Given the description of an element on the screen output the (x, y) to click on. 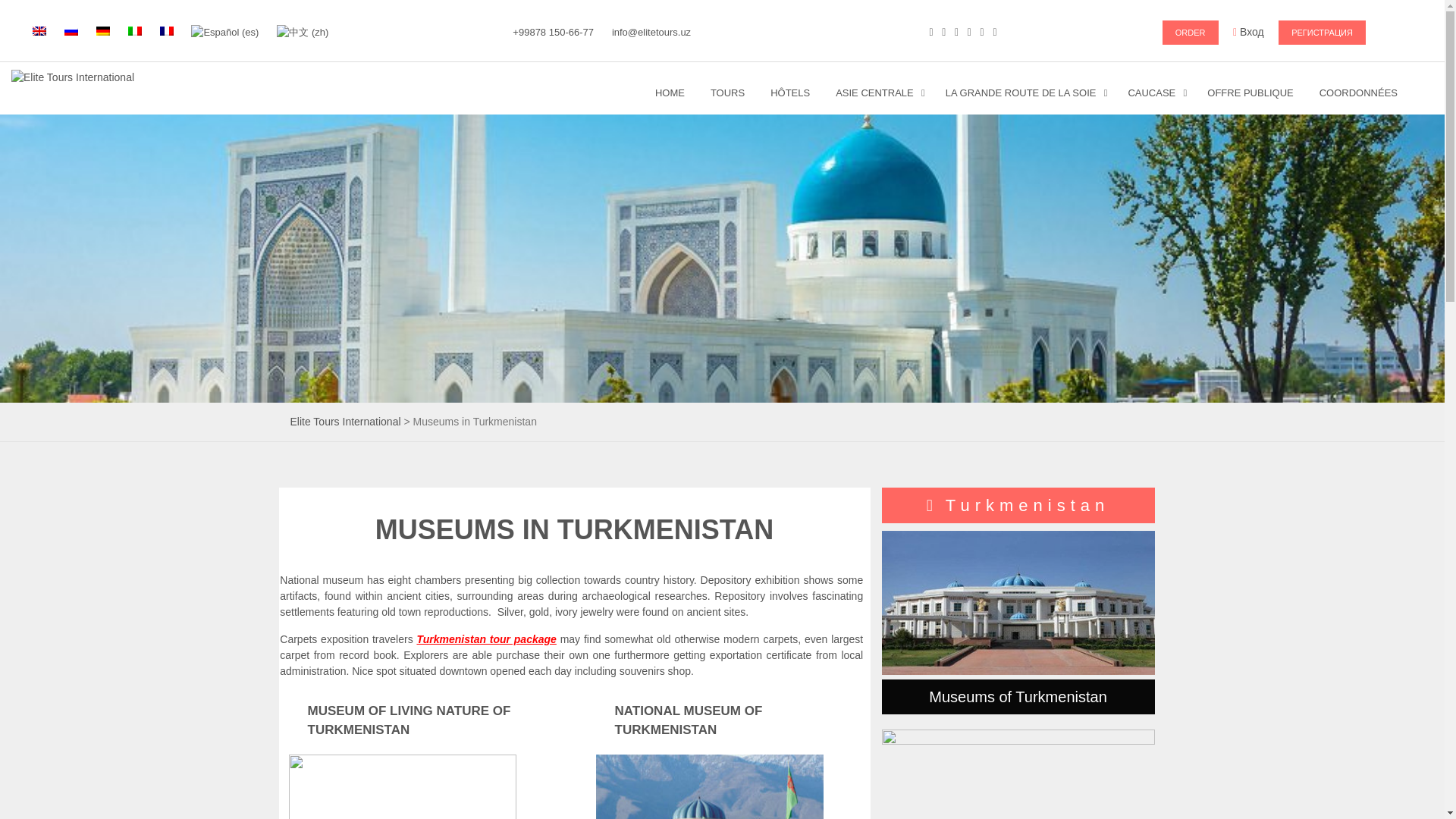
ORDER (1189, 32)
Go to Elite Tours International. (344, 421)
